Given the description of an element on the screen output the (x, y) to click on. 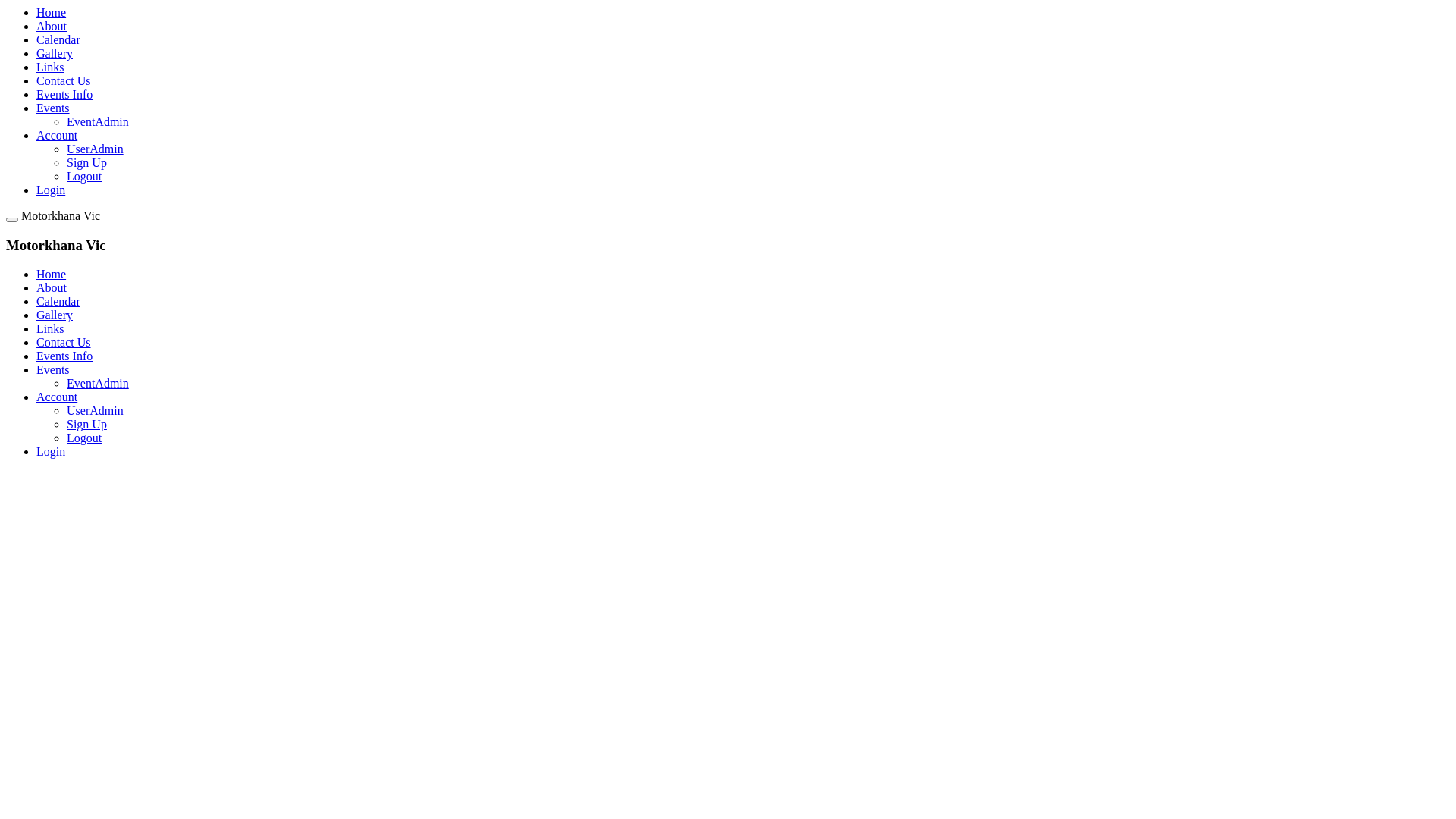
Contact Us Element type: text (63, 341)
Gallery Element type: text (54, 53)
Logout Element type: text (83, 175)
Logout Element type: text (83, 437)
Contact Us Element type: text (63, 80)
Events Element type: text (52, 107)
Calendar Element type: text (58, 39)
Calendar Element type: text (58, 300)
Home Element type: text (50, 12)
Links Element type: text (49, 66)
EventAdmin Element type: text (97, 382)
Login Element type: text (50, 189)
EventAdmin Element type: text (97, 121)
Home Element type: text (50, 273)
UserAdmin Element type: text (94, 148)
Links Element type: text (49, 328)
Account Element type: text (56, 134)
Events Info Element type: text (64, 93)
Sign Up Element type: text (86, 423)
Events Element type: text (52, 369)
UserAdmin Element type: text (94, 410)
Sign Up Element type: text (86, 162)
Login Element type: text (50, 451)
Account Element type: text (56, 396)
Events Info Element type: text (64, 355)
About Element type: text (51, 25)
Gallery Element type: text (54, 314)
About Element type: text (51, 287)
